Given the description of an element on the screen output the (x, y) to click on. 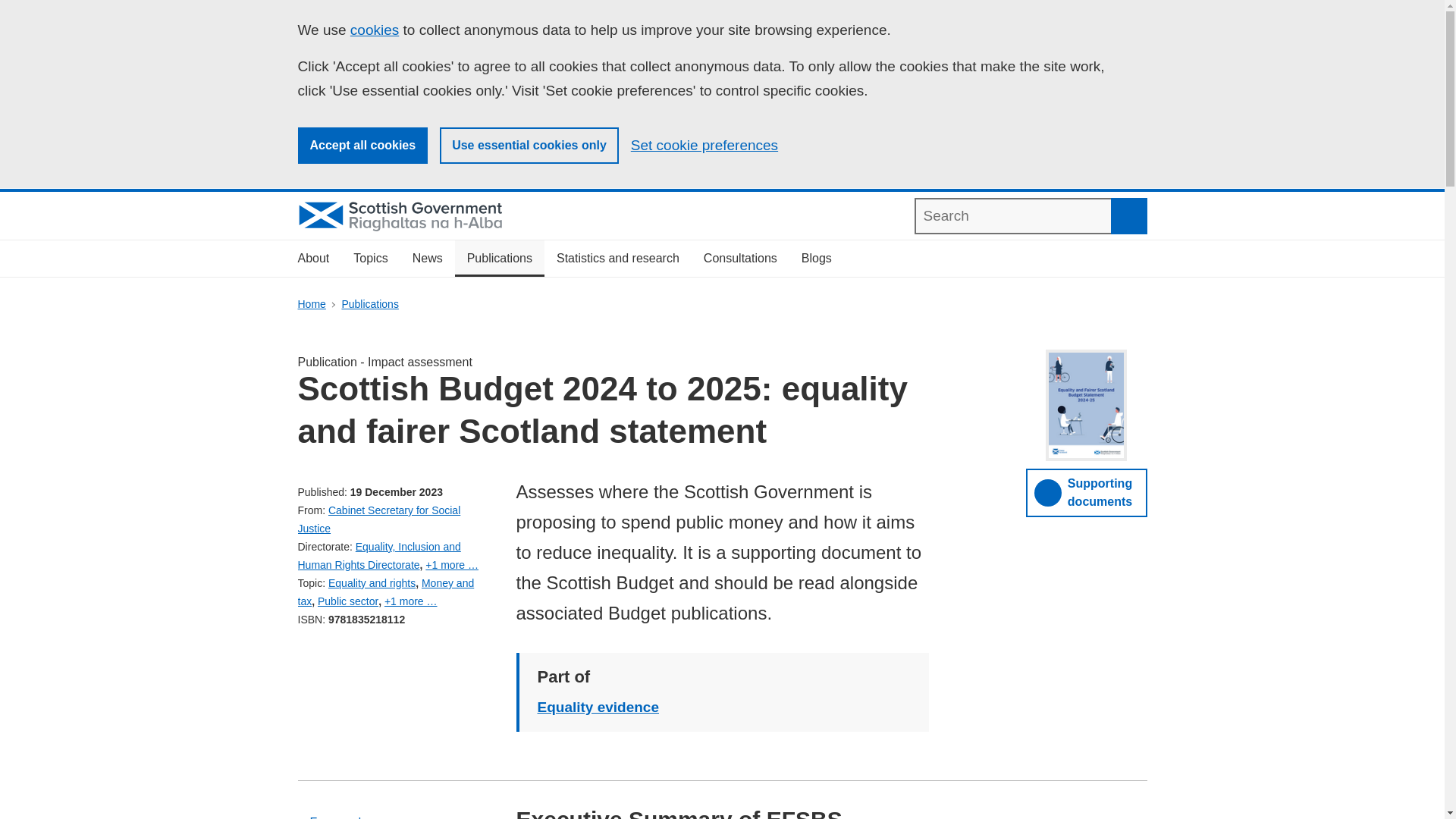
Topics (369, 258)
Supporting documents (1086, 492)
Use essential cookies only (528, 145)
Cabinet Secretary for Social Justice (378, 519)
Equality evidence (598, 706)
Blogs (816, 258)
Equality and rights (371, 582)
Foreword (394, 811)
About (312, 258)
Accept all cookies (362, 145)
Money and tax (385, 592)
Statistics and research (617, 258)
cookies (374, 29)
News (427, 258)
